Given the description of an element on the screen output the (x, y) to click on. 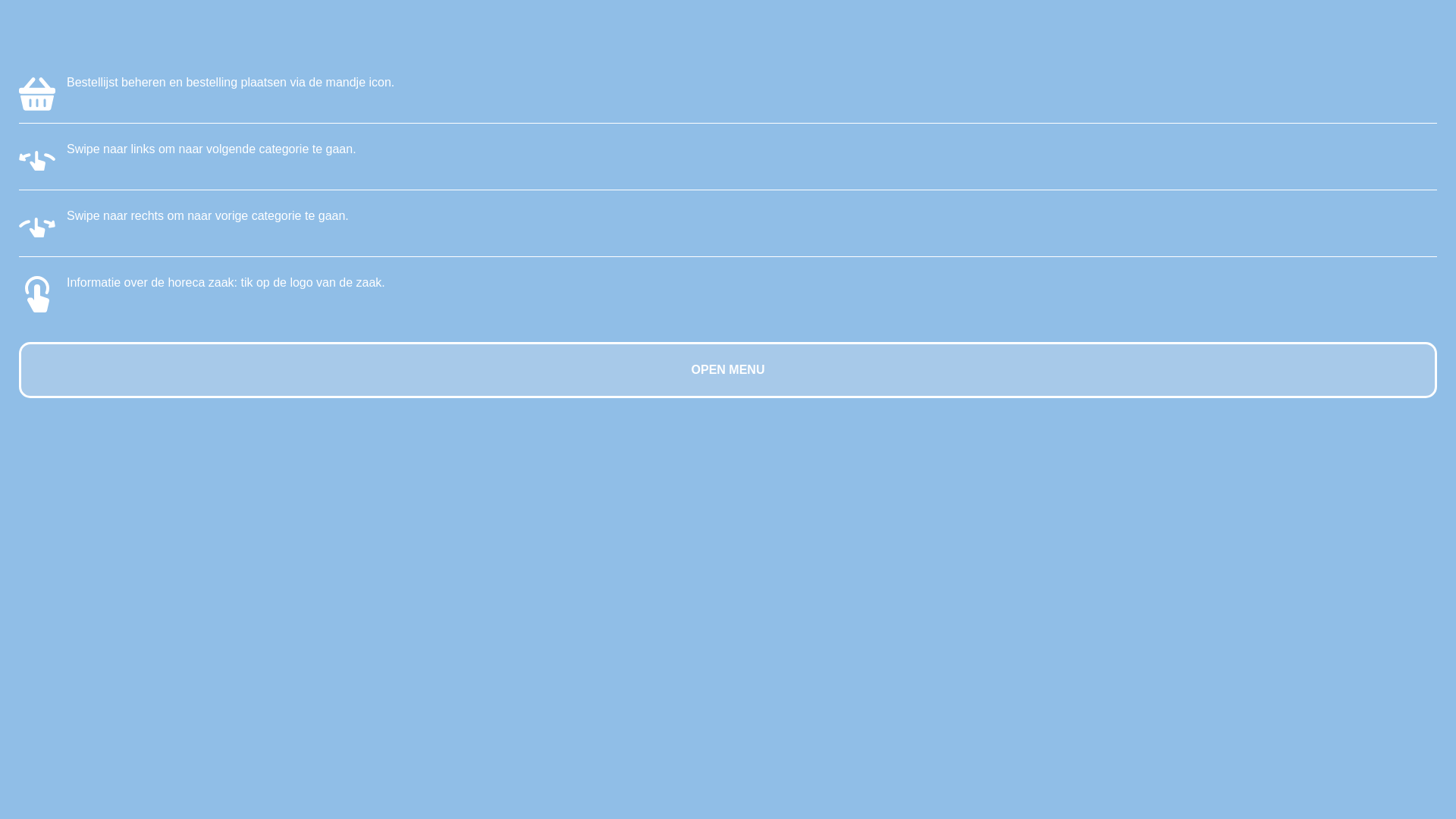
OPEN MENU Element type: text (727, 370)
